Given the description of an element on the screen output the (x, y) to click on. 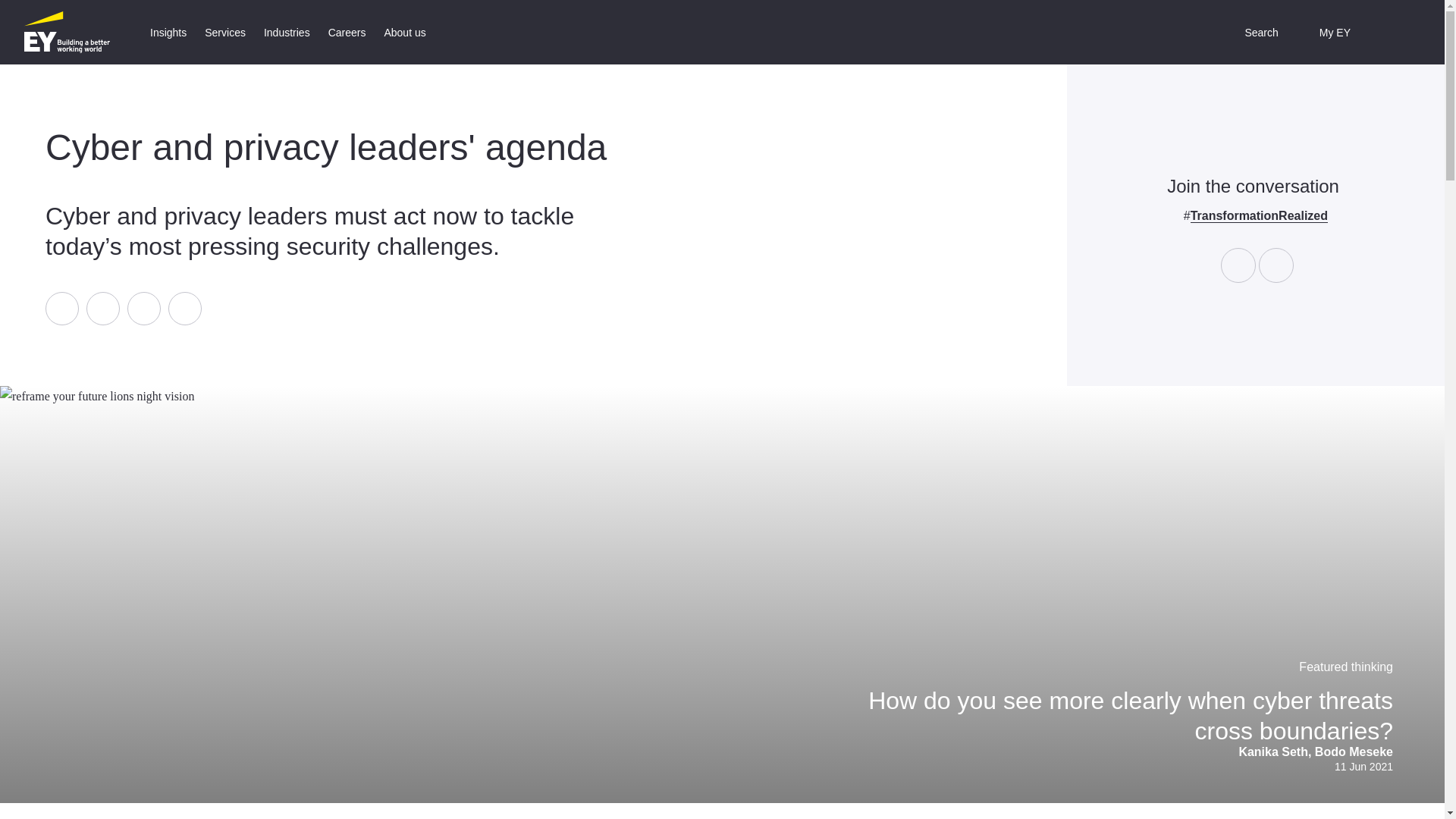
Copy link (185, 308)
Facebook (61, 308)
My EY (1324, 32)
Insights (168, 32)
EY Homepage (67, 32)
Social Media Share (123, 308)
Linkedin (102, 308)
Open search (1250, 32)
Services (224, 32)
Open country language switcher (1390, 32)
